Given the description of an element on the screen output the (x, y) to click on. 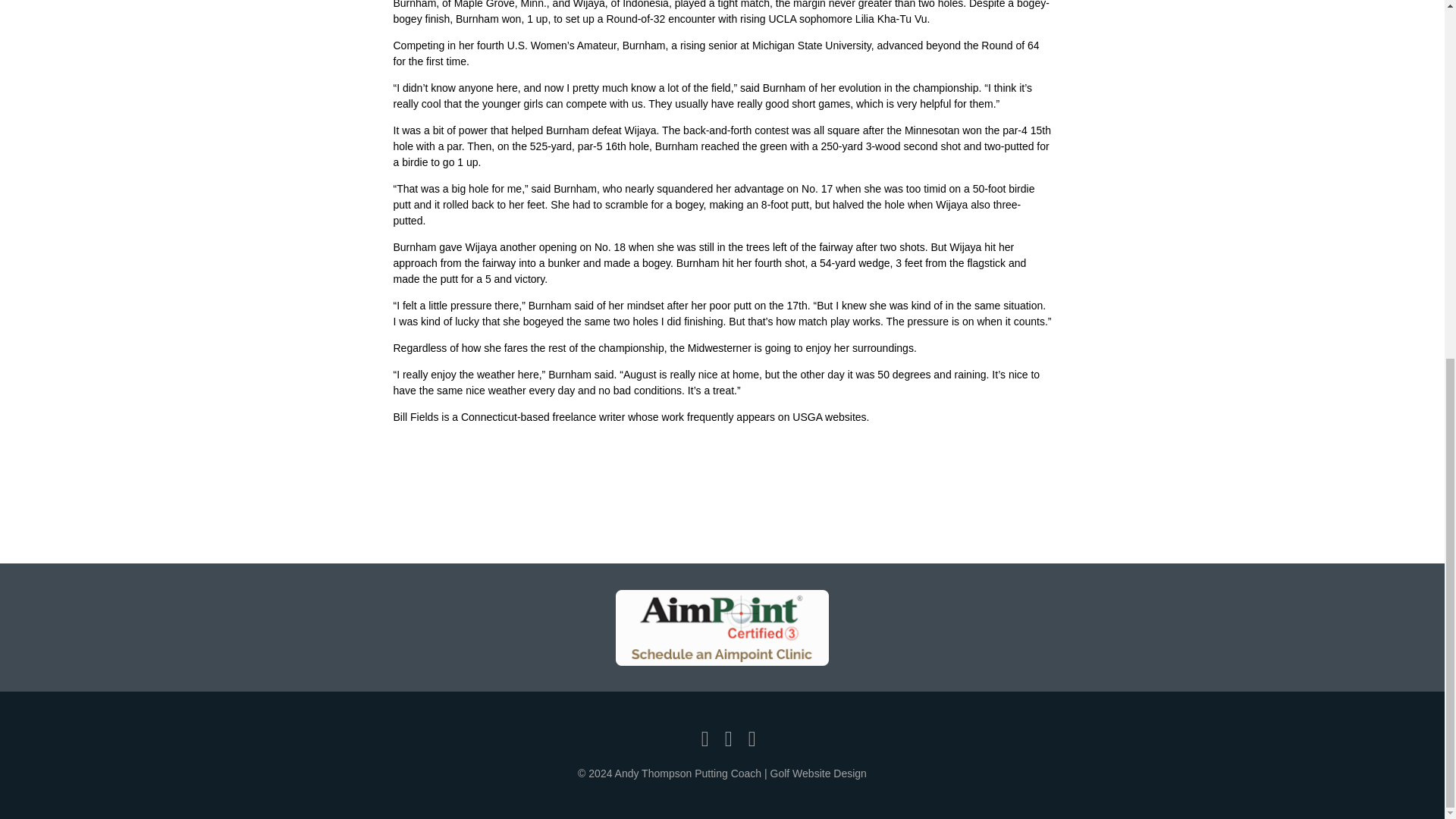
Golf Website Design (818, 773)
Golf Course Website Design (818, 773)
